Given the description of an element on the screen output the (x, y) to click on. 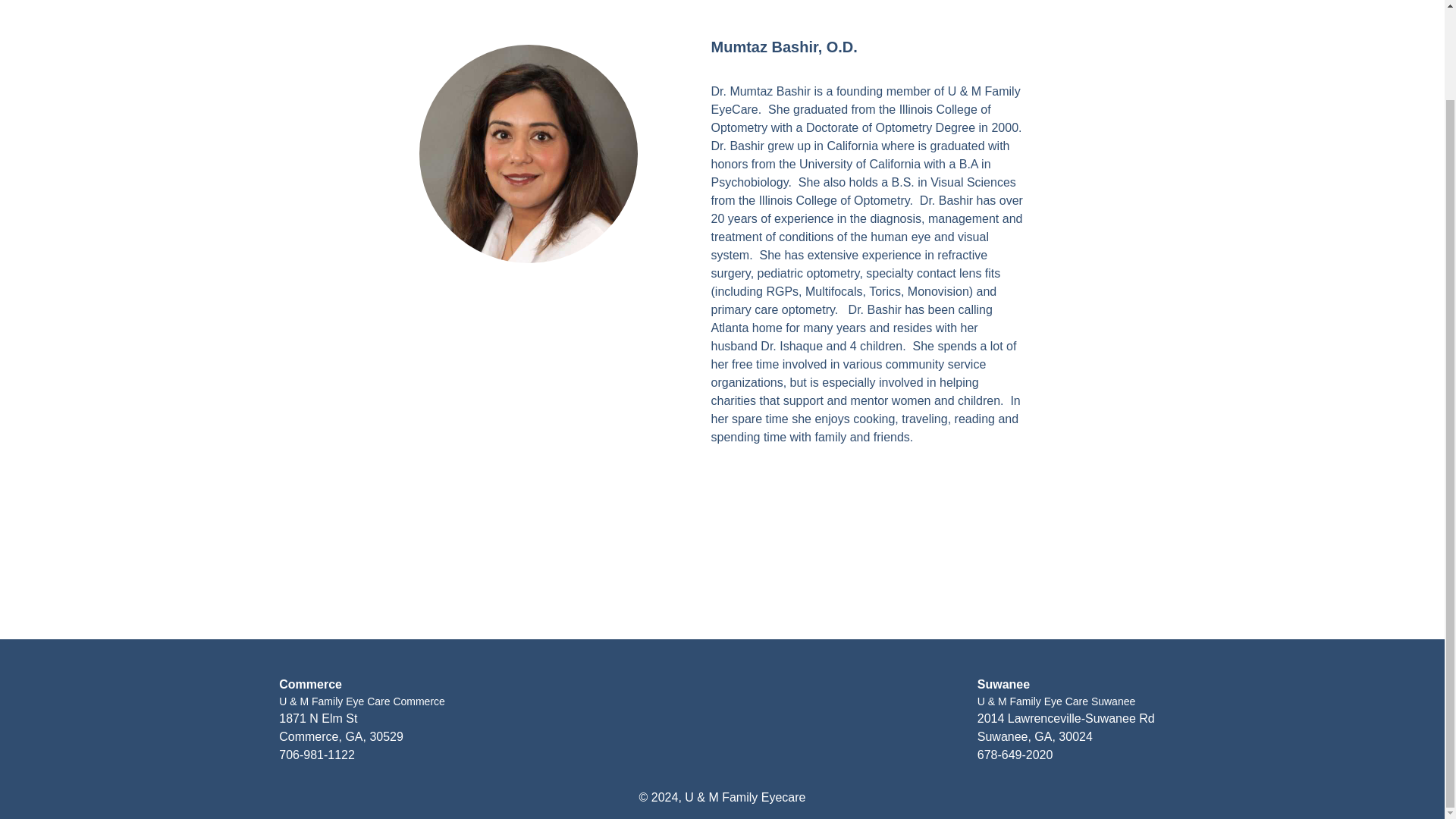
Commerce (310, 684)
Suwanee (1002, 684)
678-649-2020 (1014, 754)
706-981-1122 (317, 754)
